Given the description of an element on the screen output the (x, y) to click on. 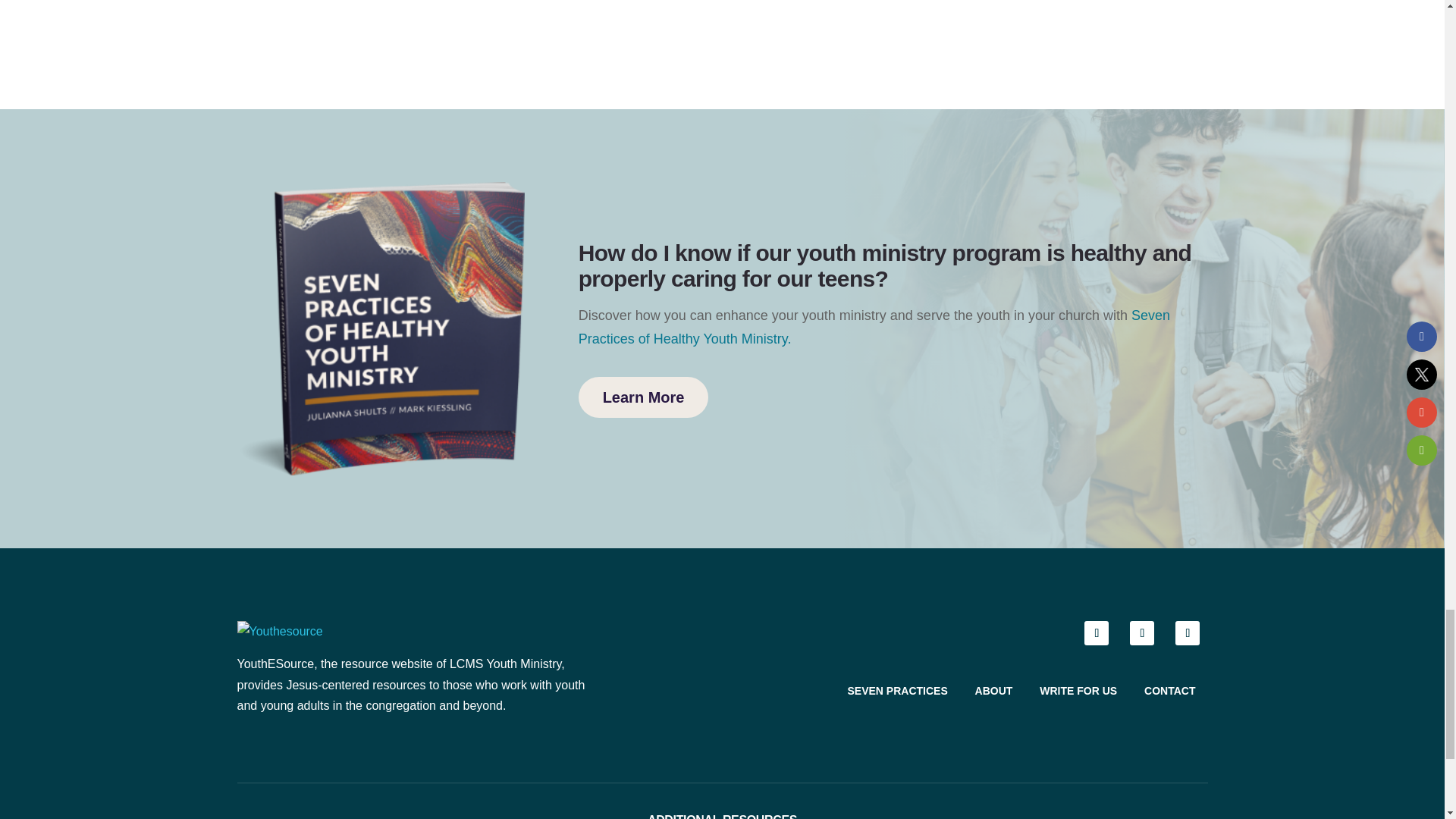
Follow on Facebook (1096, 632)
204297-3D (379, 328)
Follow on X (1141, 632)
Follow on Youtube (1186, 632)
